Given the description of an element on the screen output the (x, y) to click on. 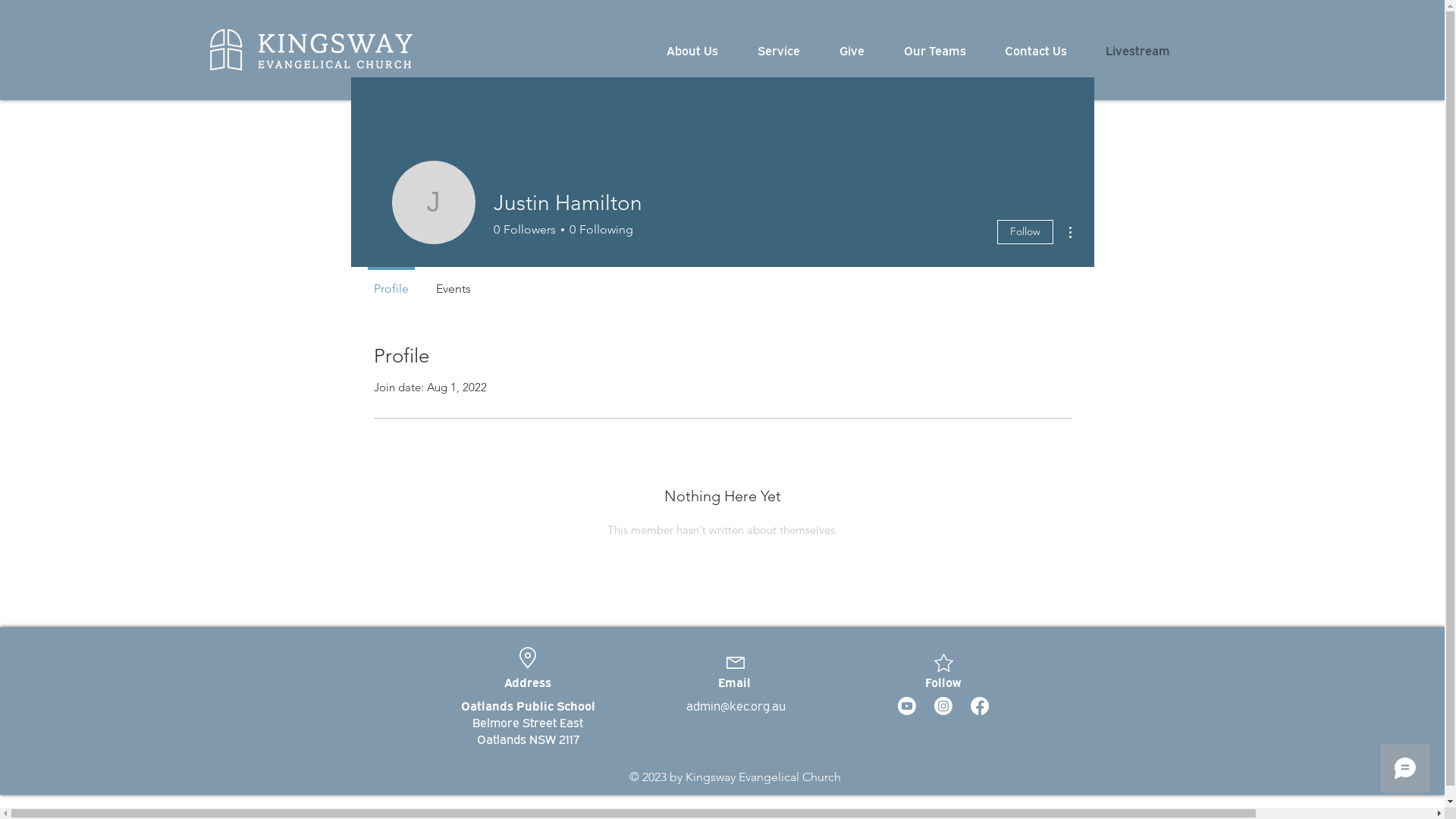
Events Element type: text (452, 281)
0
Followers Element type: text (523, 229)
Livestream Element type: text (1138, 49)
Our Teams Element type: text (941, 49)
Wix Chat Element type: hover (1408, 771)
Give Element type: text (860, 49)
Follow Element type: text (1024, 231)
Service Element type: text (787, 49)
Profile Element type: text (390, 281)
0
Following Element type: text (598, 229)
Contact Us Element type: text (1043, 49)
About Us Element type: text (700, 49)
admin@kec.org.au Element type: text (735, 704)
